Given the description of an element on the screen output the (x, y) to click on. 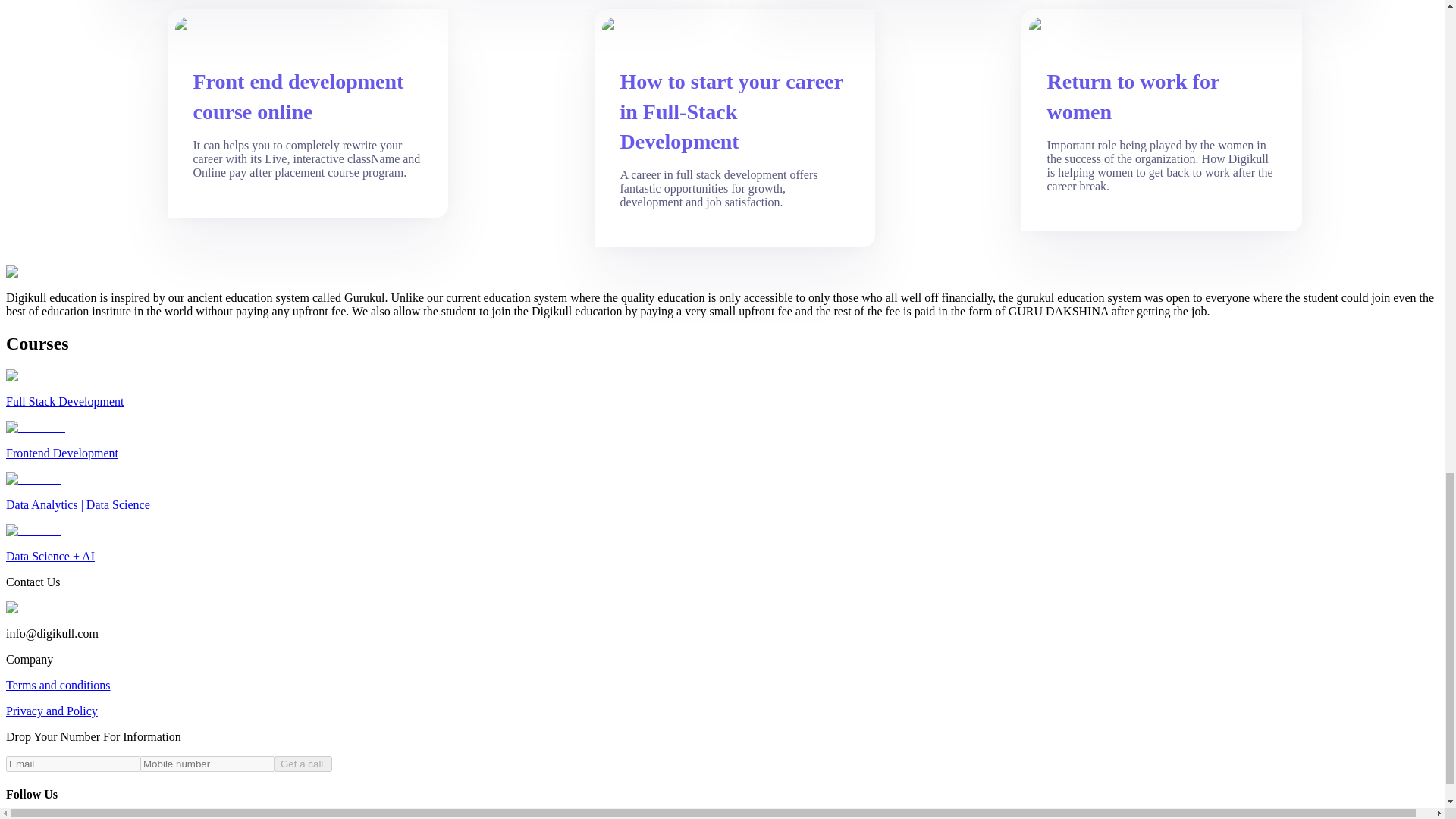
Get a call. (303, 763)
Full Stack Development (721, 388)
Frontend Development (721, 440)
Terms and conditions (57, 684)
Privacy and Policy (51, 710)
